Given the description of an element on the screen output the (x, y) to click on. 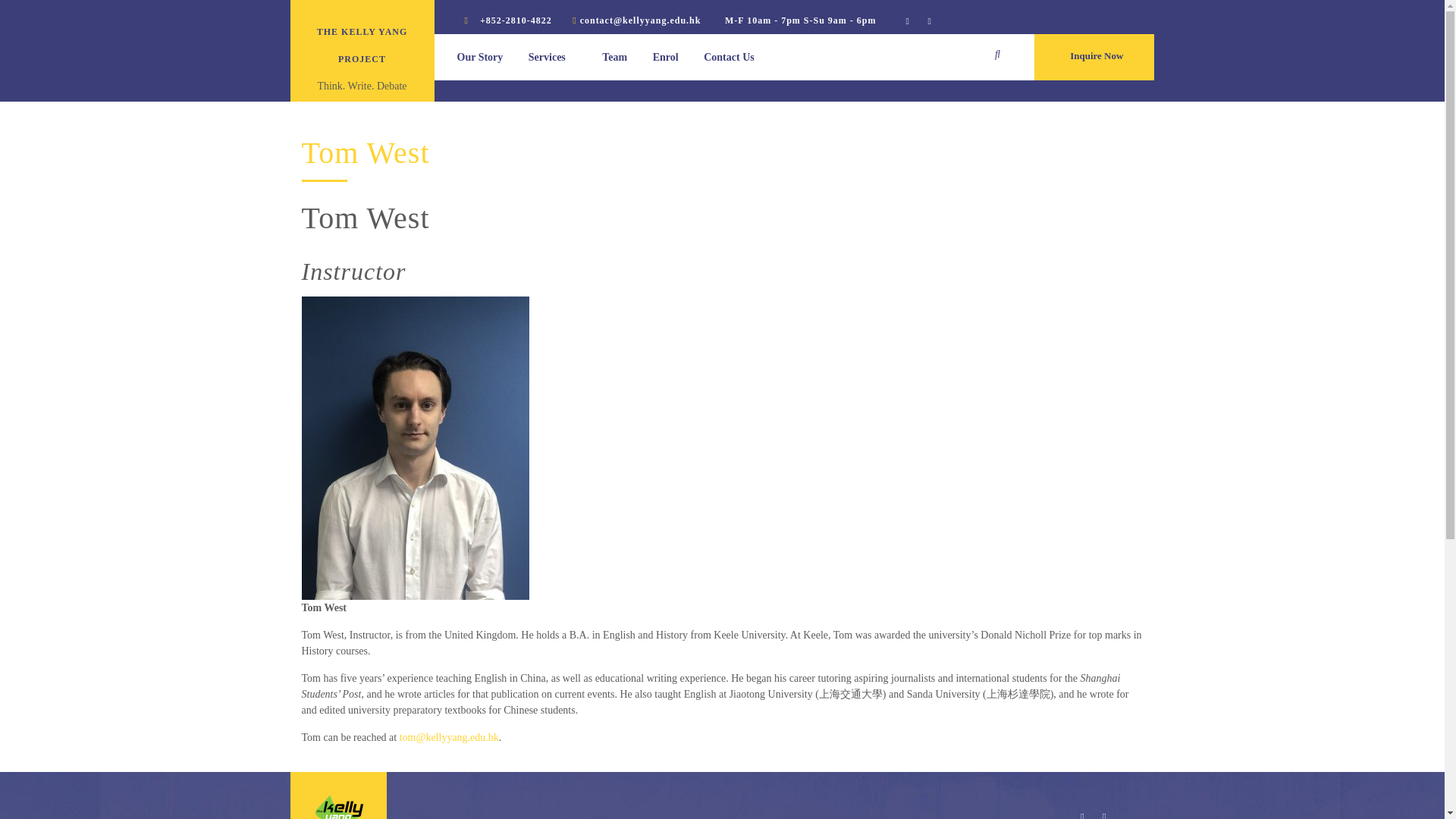
Our Story (479, 57)
Inquire Now (1096, 55)
THE KELLY YANG PROJECT (362, 45)
Services (552, 57)
Enrol (665, 57)
Team (614, 57)
Contact Us (728, 57)
